Given the description of an element on the screen output the (x, y) to click on. 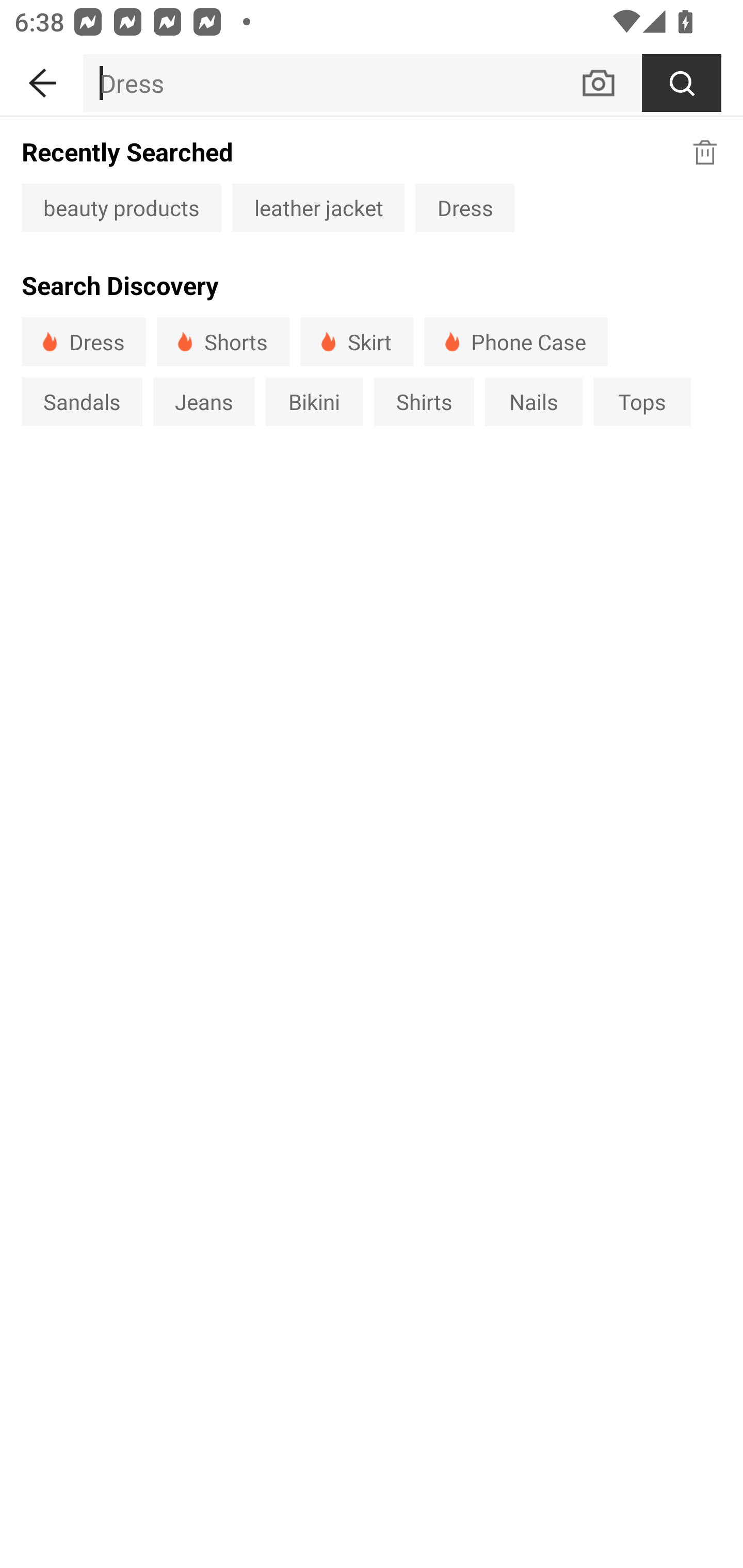
BACK (41, 79)
Dress (330, 82)
beauty products (121, 207)
leather jacket (317, 207)
Dress (464, 207)
Dress (83, 341)
Shorts (222, 341)
Skirt (356, 341)
Phone Case (515, 341)
Sandals (81, 401)
Jeans (203, 401)
Bikini (314, 401)
